Given the description of an element on the screen output the (x, y) to click on. 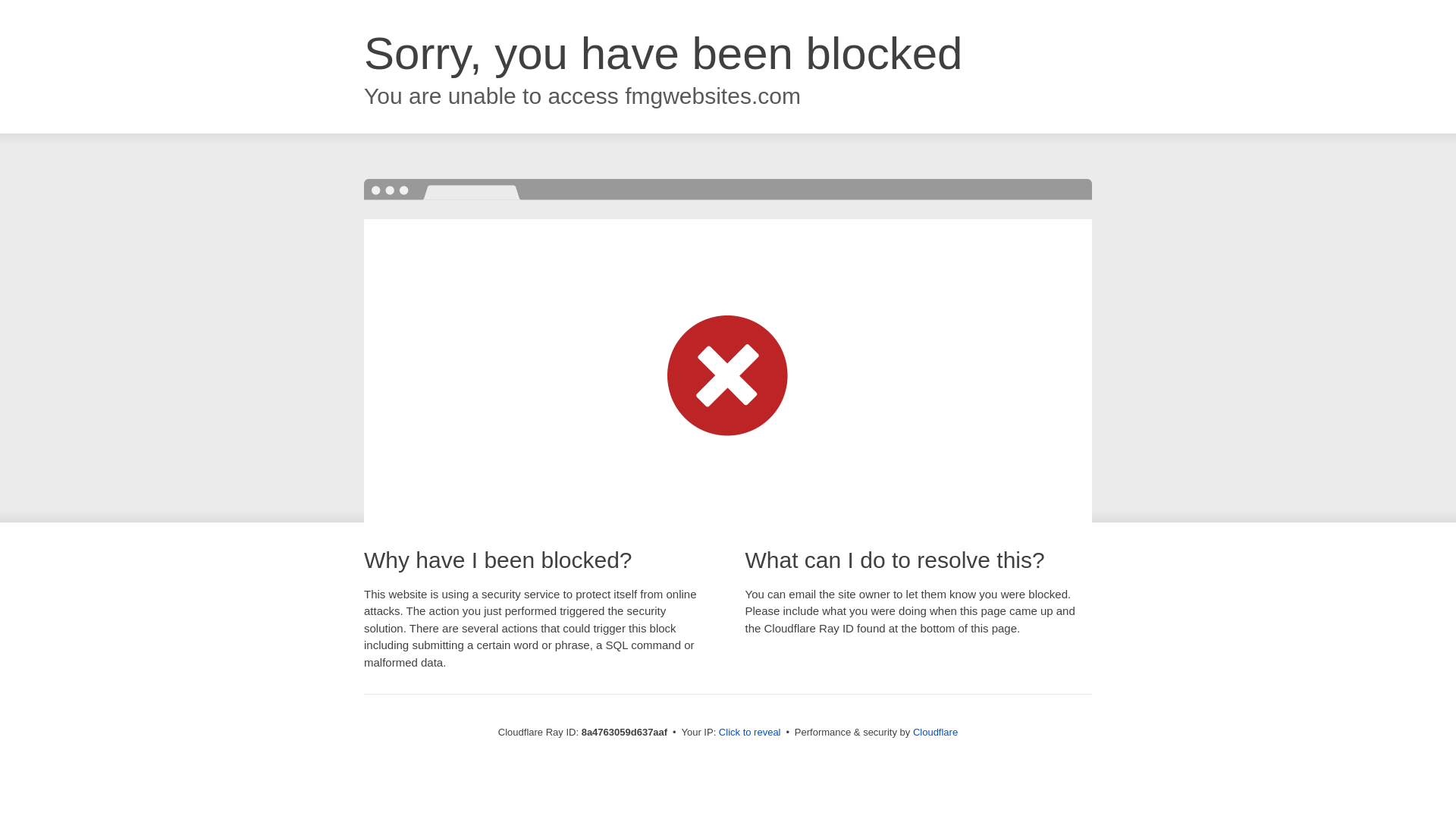
Cloudflare (935, 731)
Click to reveal (749, 732)
